Given the description of an element on the screen output the (x, y) to click on. 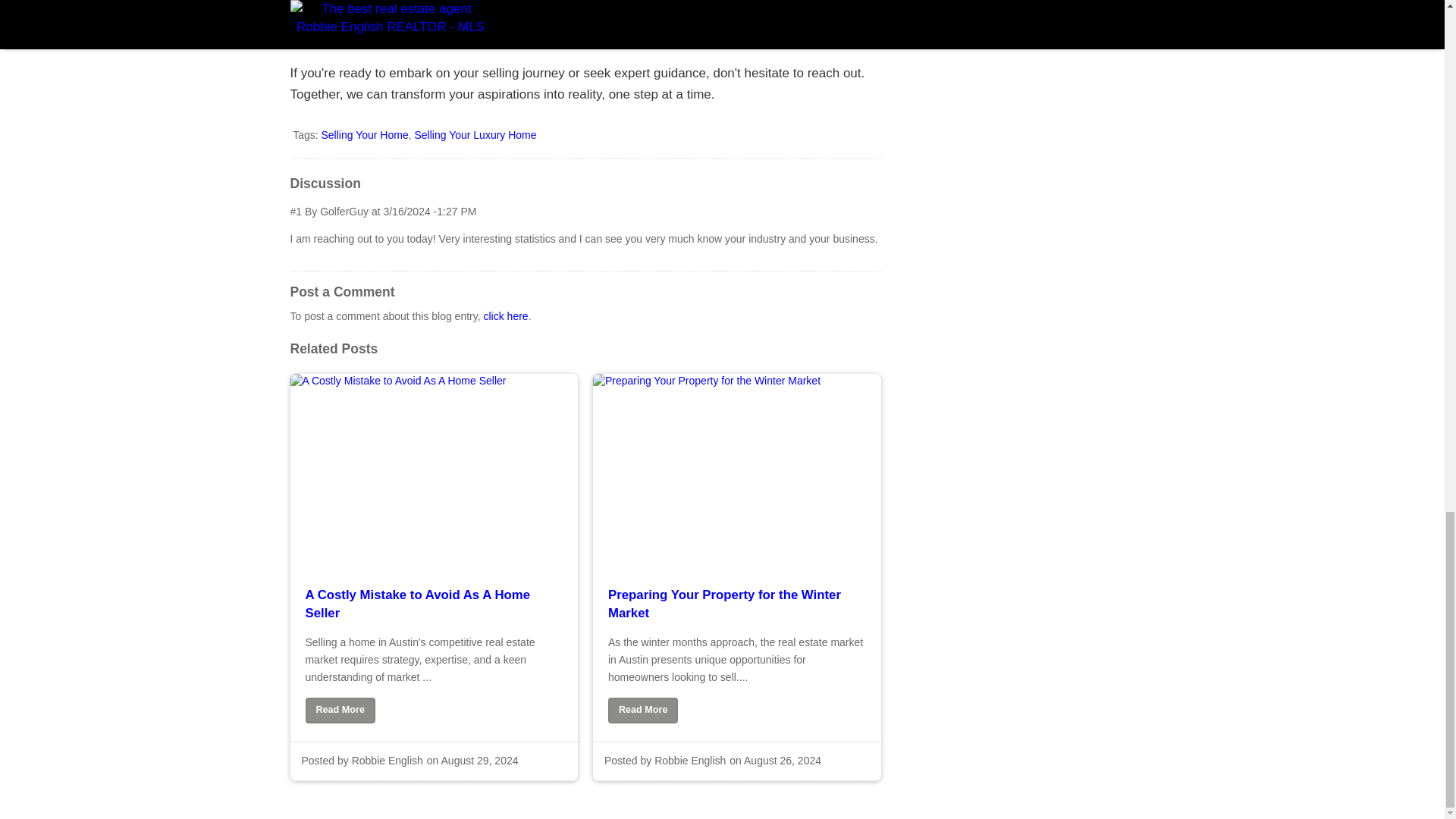
Preparing Your Property for the Winter Market (737, 604)
A Costly Mistake to Avoid As A Home Seller (433, 604)
